Given the description of an element on the screen output the (x, y) to click on. 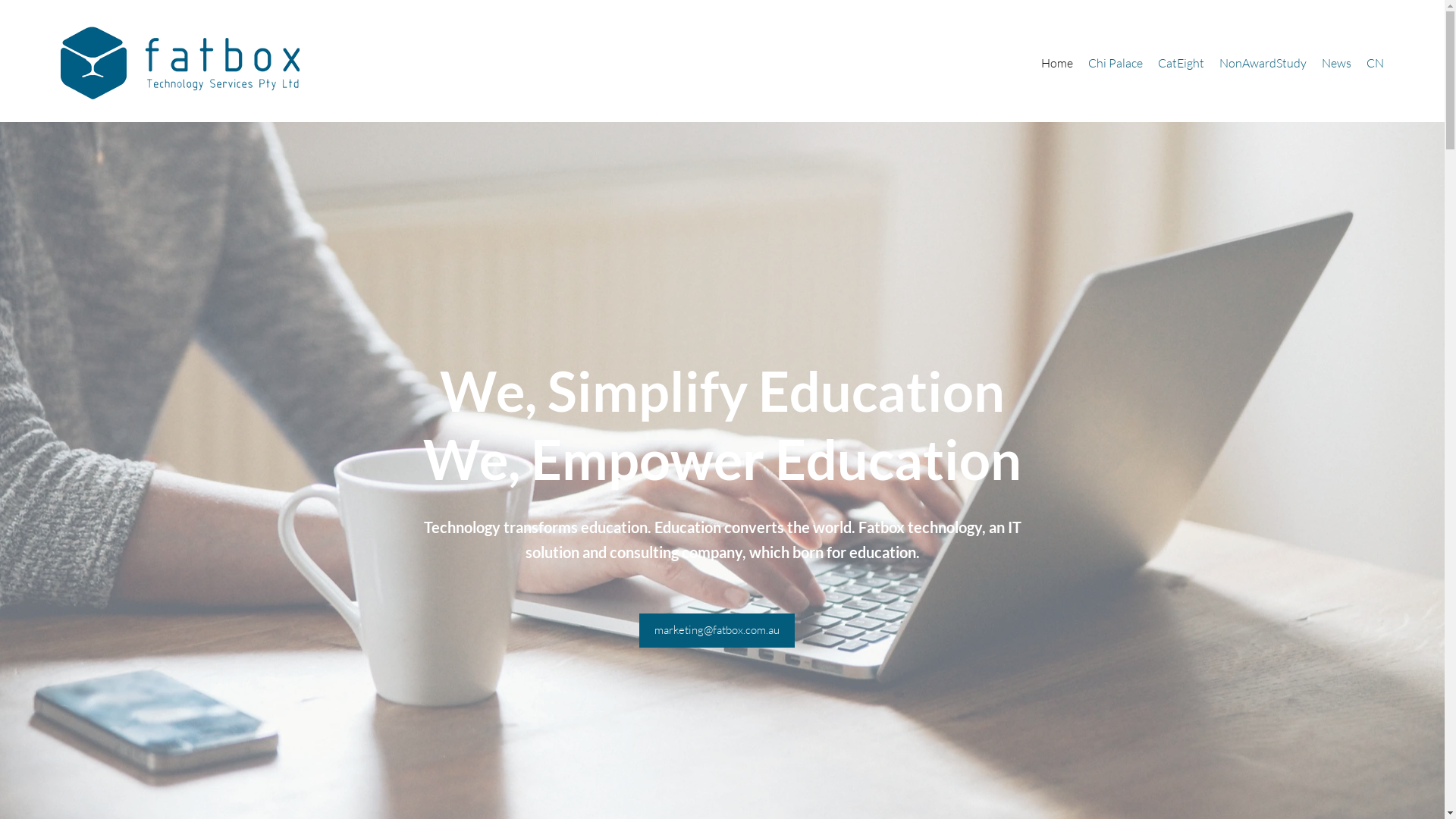
News Element type: text (1336, 62)
CatEight Element type: text (1180, 62)
marketing@fatbox.com.au Element type: text (715, 630)
CN Element type: text (1374, 62)
NonAwardStudy Element type: text (1262, 62)
Home Element type: text (1056, 62)
Chi Palace Element type: text (1115, 62)
